Given the description of an element on the screen output the (x, y) to click on. 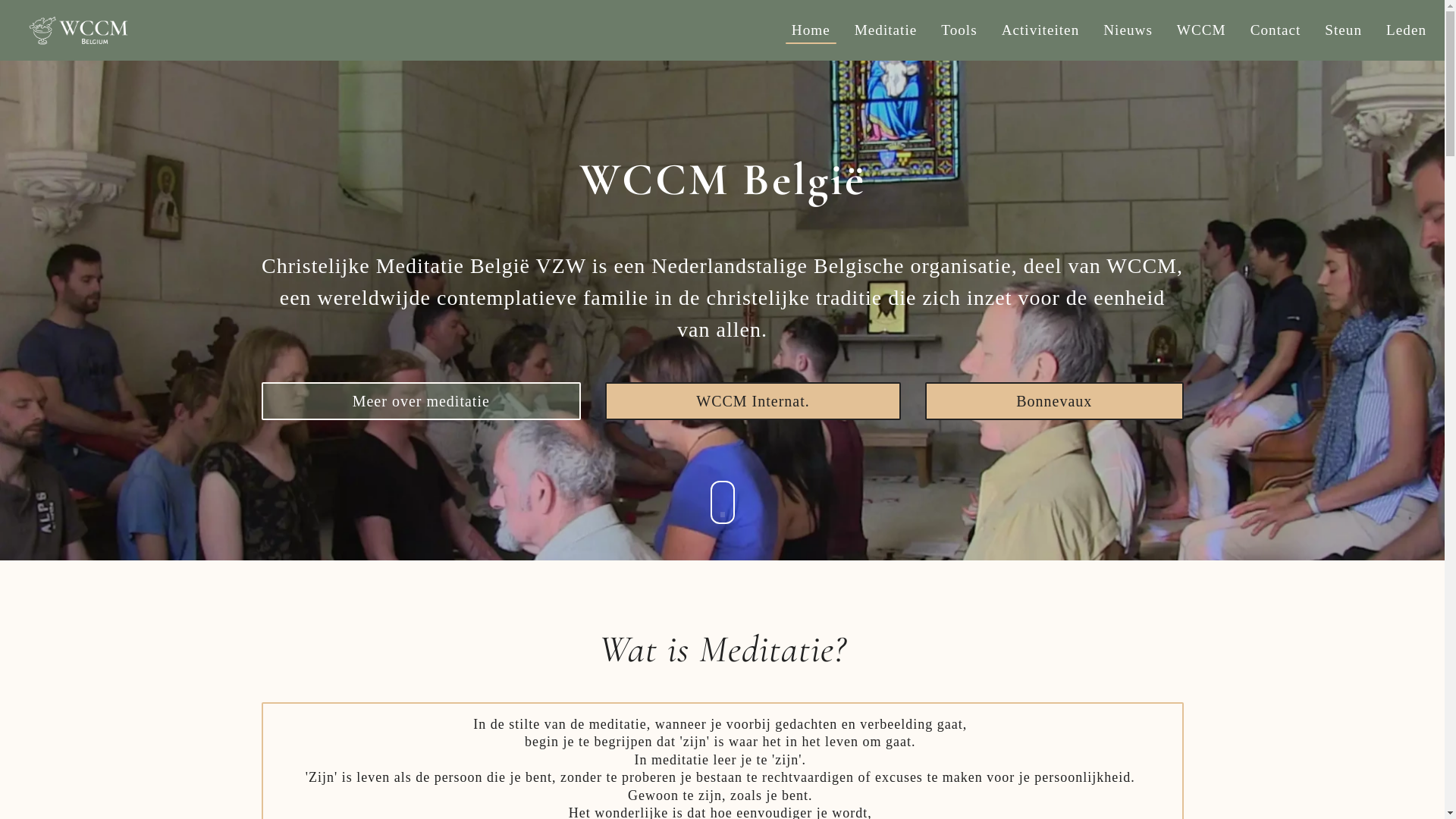
Bonnevaux meditatie kapel Element type: hover (722, 360)
Home Element type: text (810, 29)
Meer over meditatie Element type: text (420, 401)
Activiteiten Element type: text (1040, 29)
WCCM Internat. Element type: text (752, 401)
Meditatie Element type: text (885, 29)
Steun Element type: text (1343, 29)
WCCM Element type: text (1201, 29)
Tools Element type: text (958, 29)
Bonnevaux Element type: text (1054, 401)
Contact Element type: text (1275, 29)
Nieuws Element type: text (1127, 29)
Leden Element type: text (1406, 29)
